Given the description of an element on the screen output the (x, y) to click on. 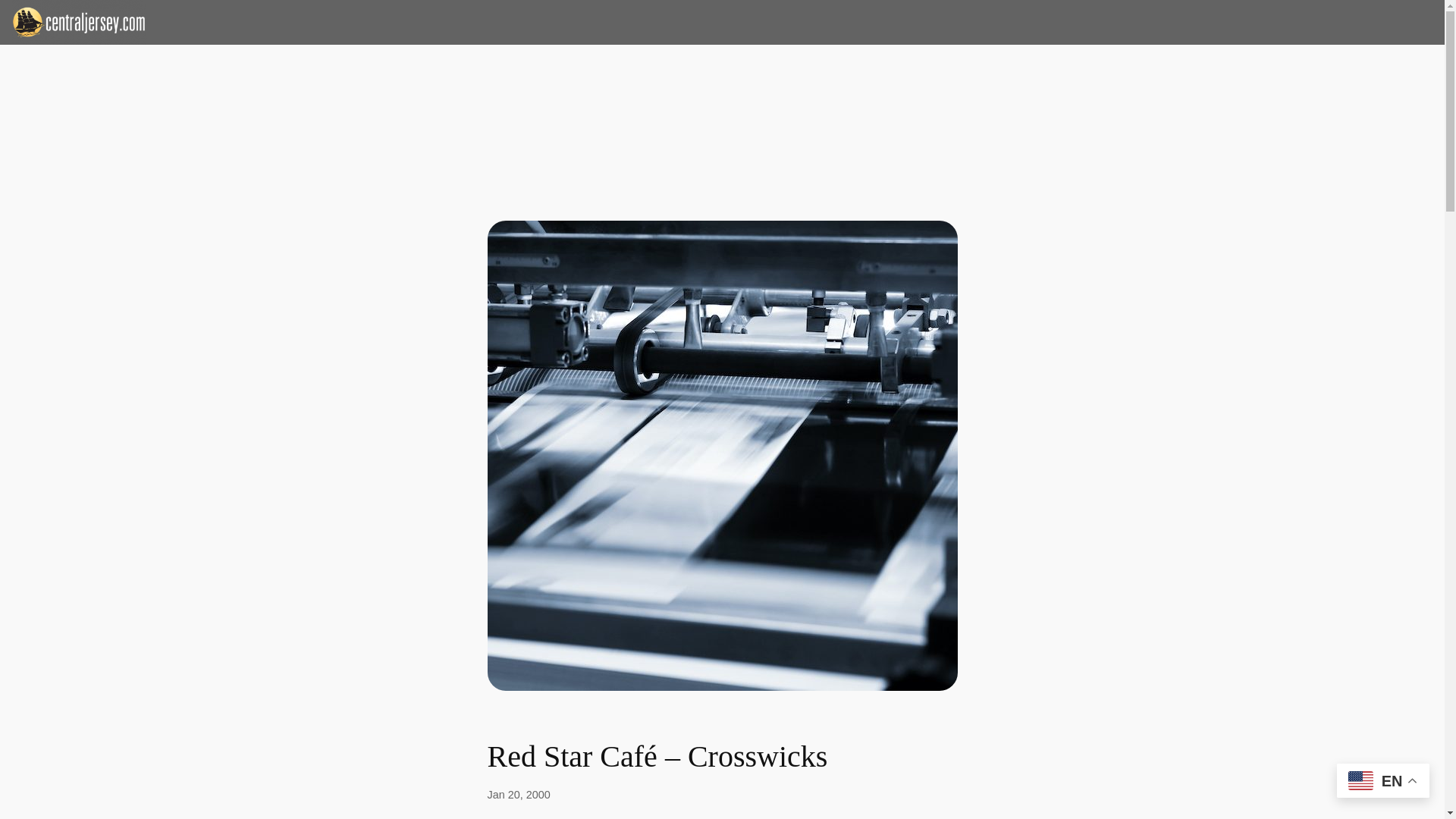
Jan 20, 2000 (518, 794)
3rd party ad content (721, 92)
